Given the description of an element on the screen output the (x, y) to click on. 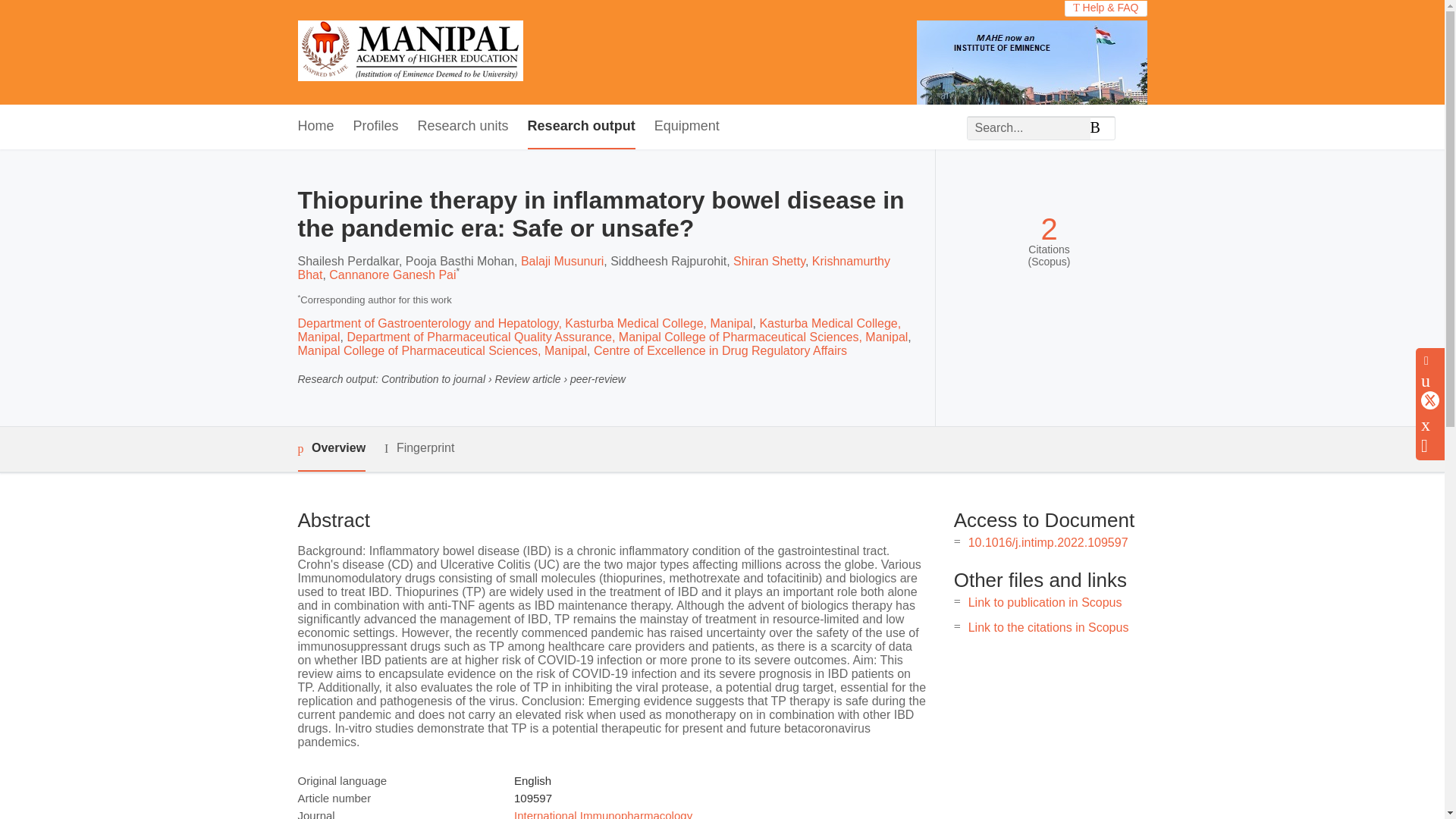
Equipment (686, 126)
Profiles (375, 126)
Fingerprint (419, 448)
International Immunopharmacology (603, 814)
Link to publication in Scopus (1045, 602)
Overview (331, 448)
Centre of Excellence in Drug Regulatory Affairs (720, 350)
Manipal College of Pharmaceutical Sciences, Manipal (441, 350)
